Given the description of an element on the screen output the (x, y) to click on. 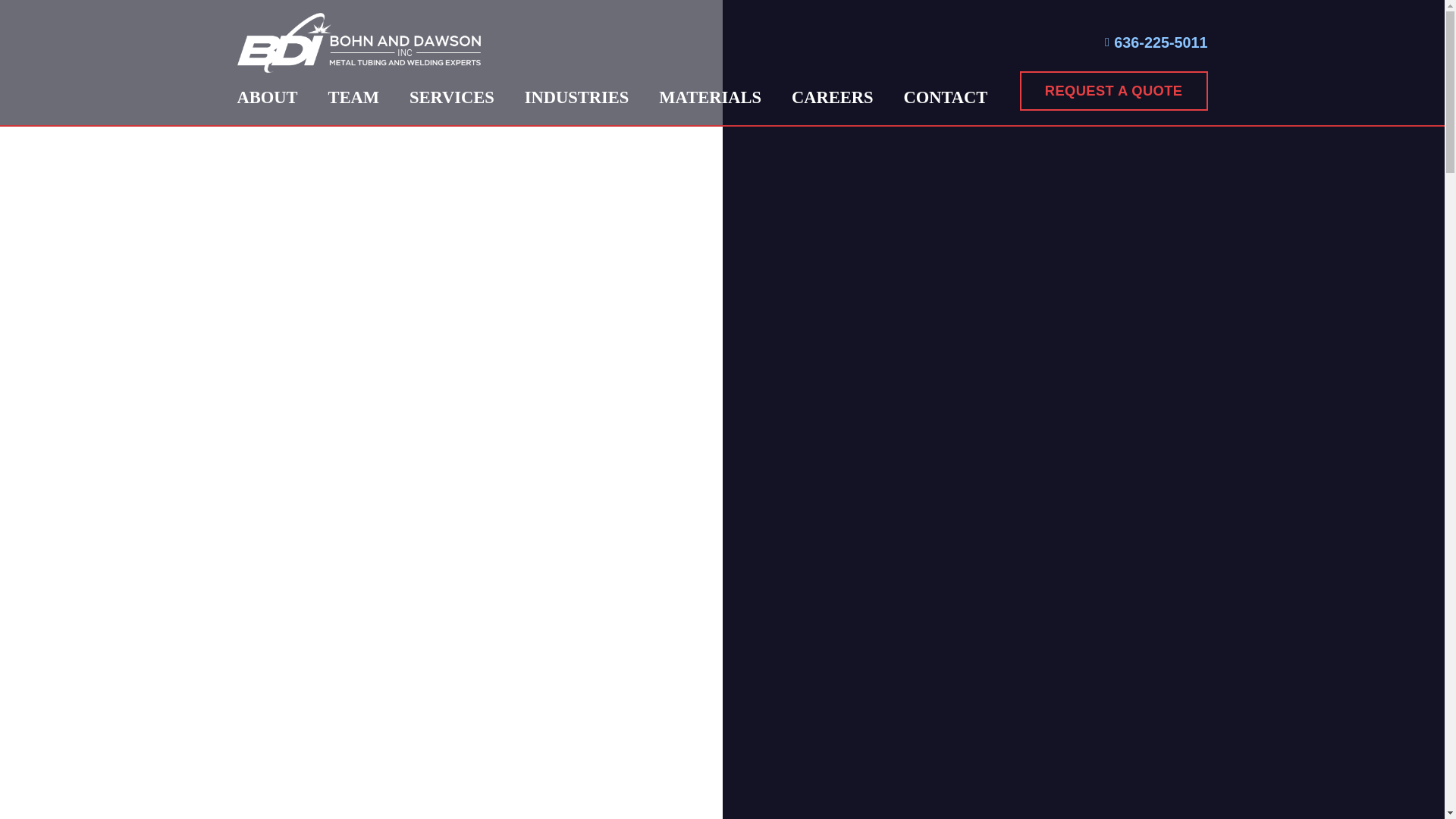
636-225-5011 (1156, 42)
CONTACT (945, 97)
INDUSTRIES (577, 97)
CAREERS (832, 97)
ABOUT (267, 97)
SERVICES (451, 97)
TEAM (353, 97)
MATERIALS (709, 97)
REQUEST A QUOTE (1114, 90)
